Given the description of an element on the screen output the (x, y) to click on. 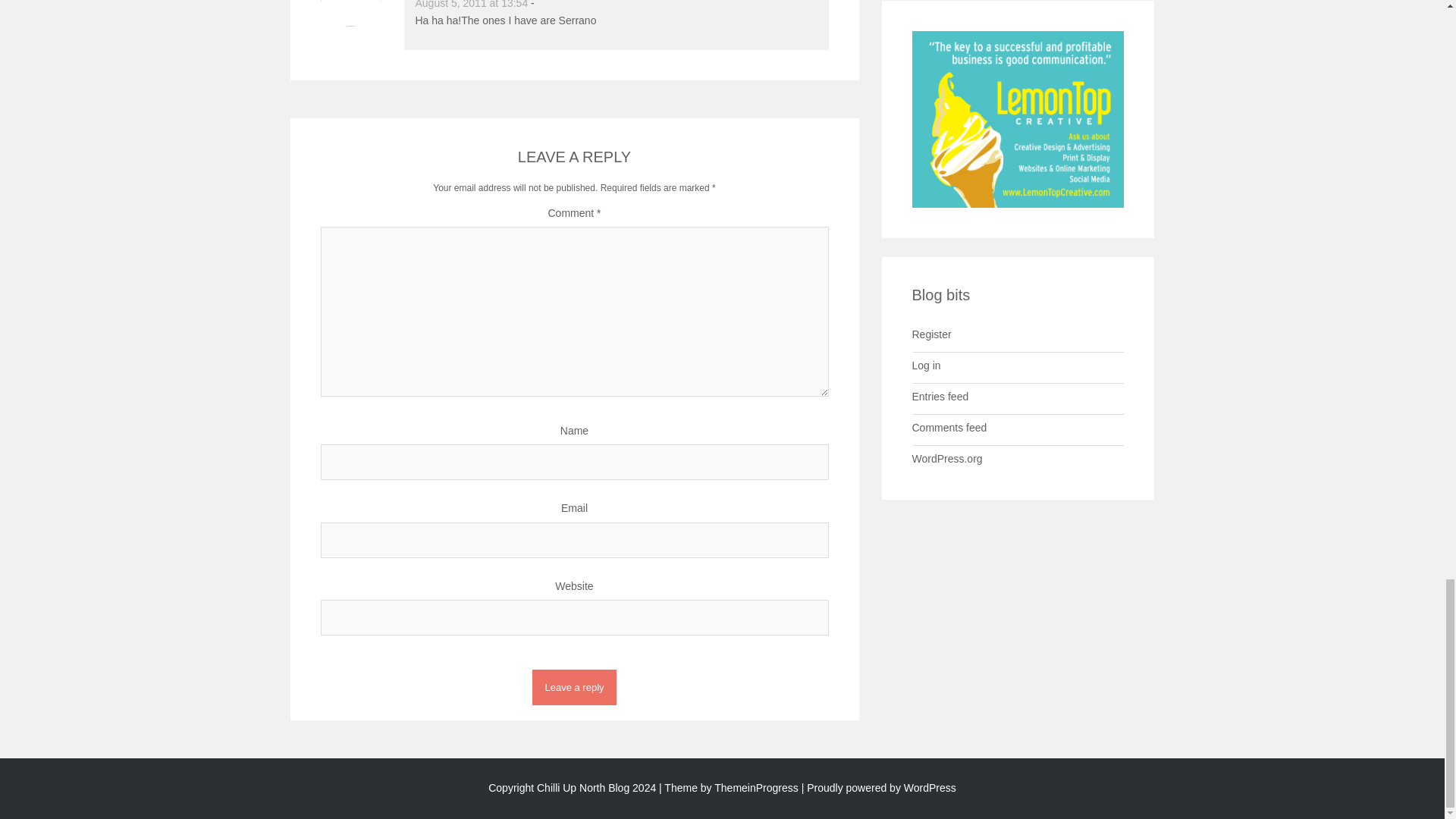
Leave a reply (573, 687)
A Semantic Personal Publishing Platform (879, 787)
Leave a reply (573, 687)
August 5, 2011 at 13:54 (471, 4)
Web design darlington (1017, 118)
